Given the description of an element on the screen output the (x, y) to click on. 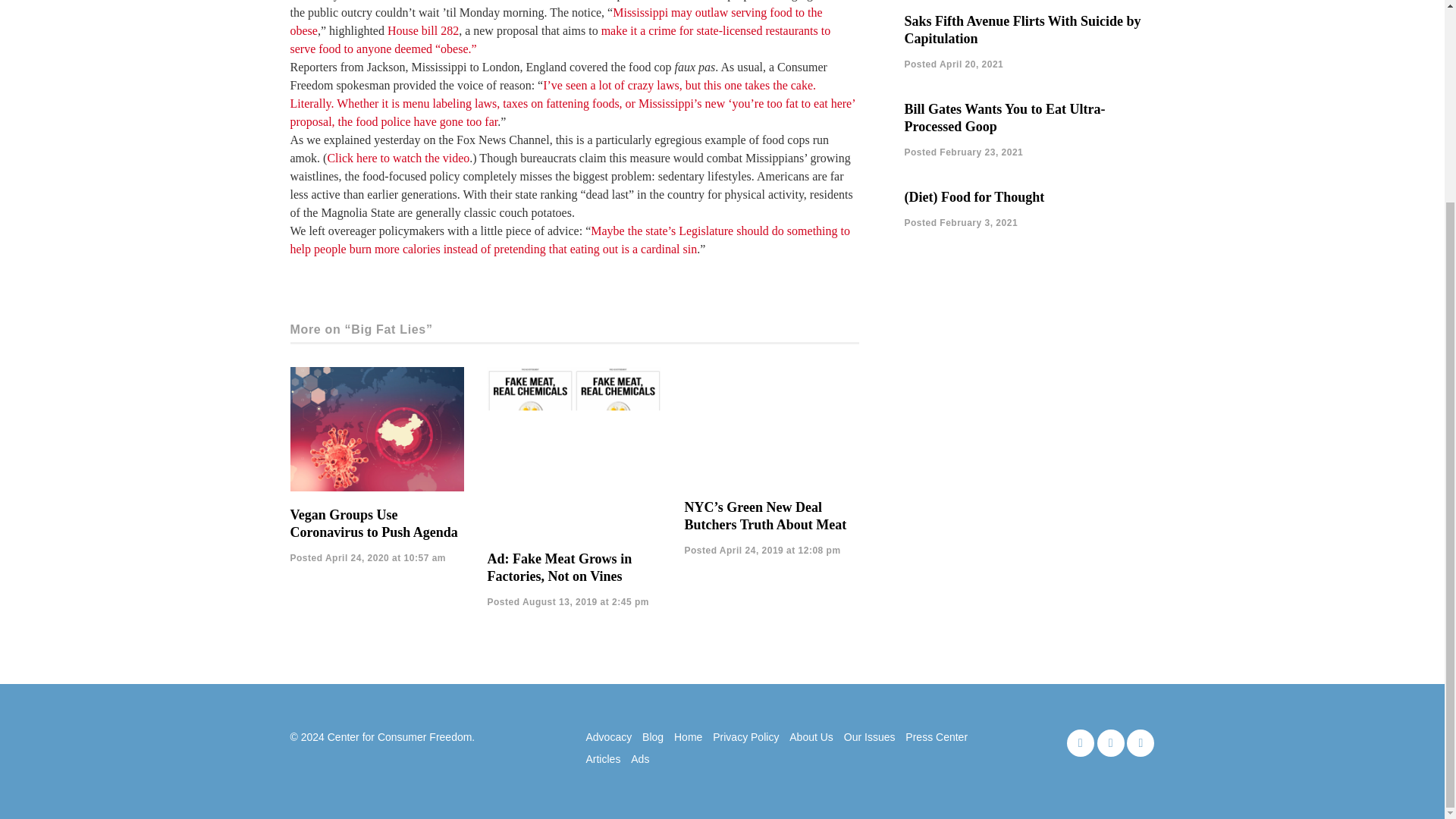
Vegan Groups Use Coronavirus to Push Agenda (373, 522)
House bill 282 (422, 30)
Click here to watch the video (397, 157)
Ad: Fake Meat Grows in Factories, Not on Vines (558, 567)
Mississippi may outlaw serving food to the obese (555, 20)
